Given the description of an element on the screen output the (x, y) to click on. 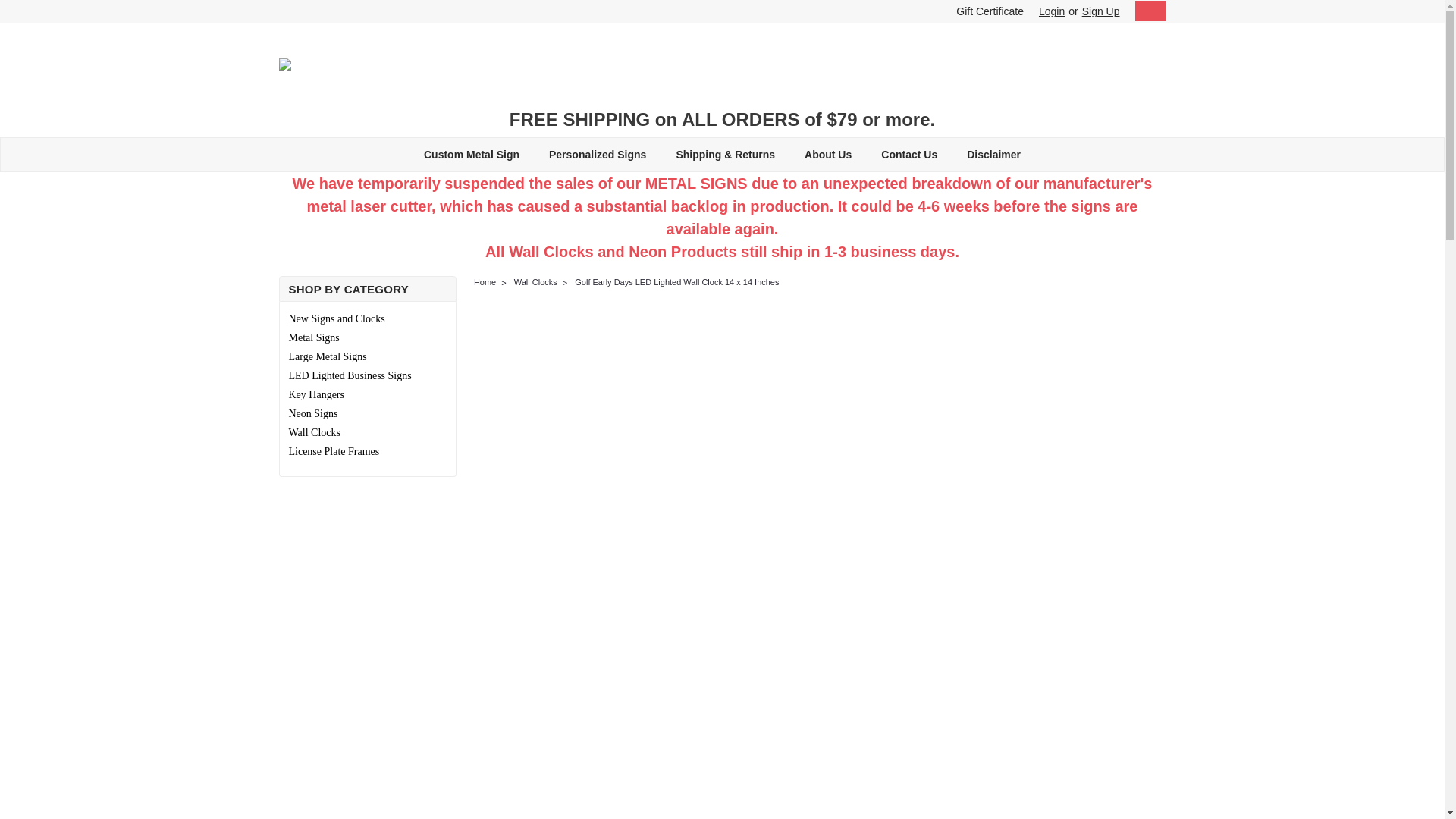
Login (1051, 11)
JackandFriends.com (285, 64)
Gift Certificate (986, 11)
Sign Up (1098, 11)
